Given the description of an element on the screen output the (x, y) to click on. 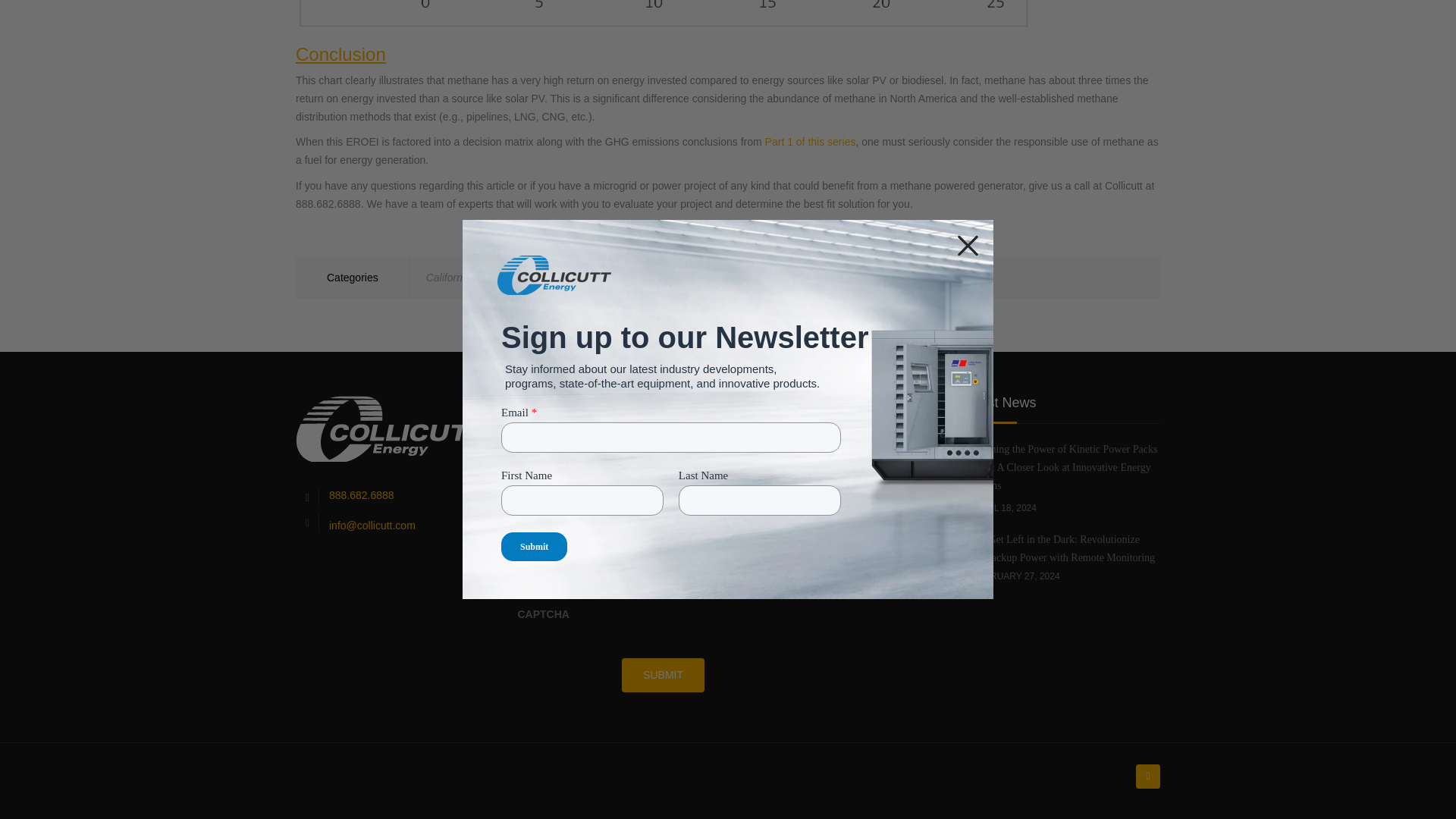
Submit (662, 675)
